Given the description of an element on the screen output the (x, y) to click on. 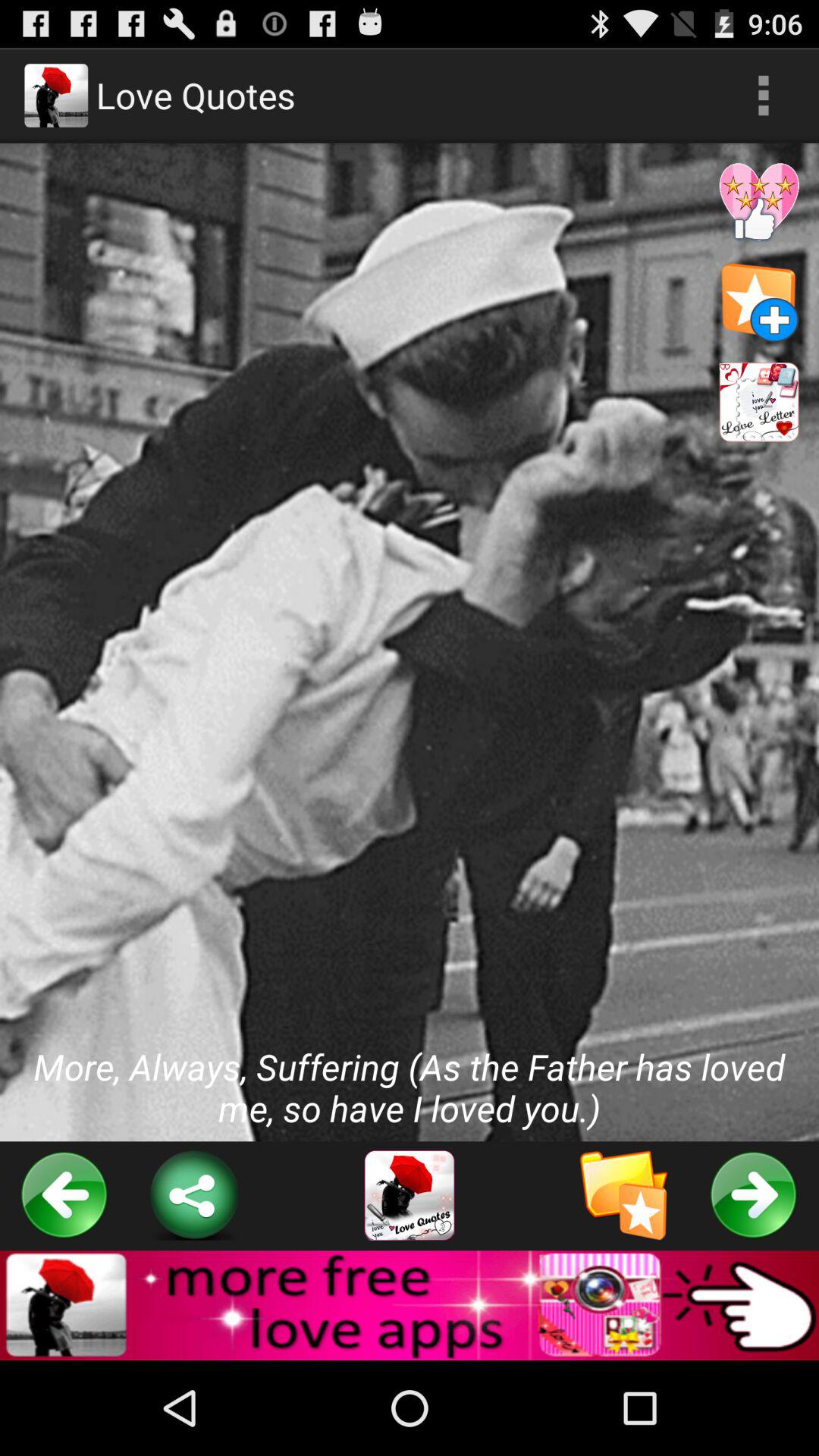
choose item next to the love quotes app (763, 95)
